Given the description of an element on the screen output the (x, y) to click on. 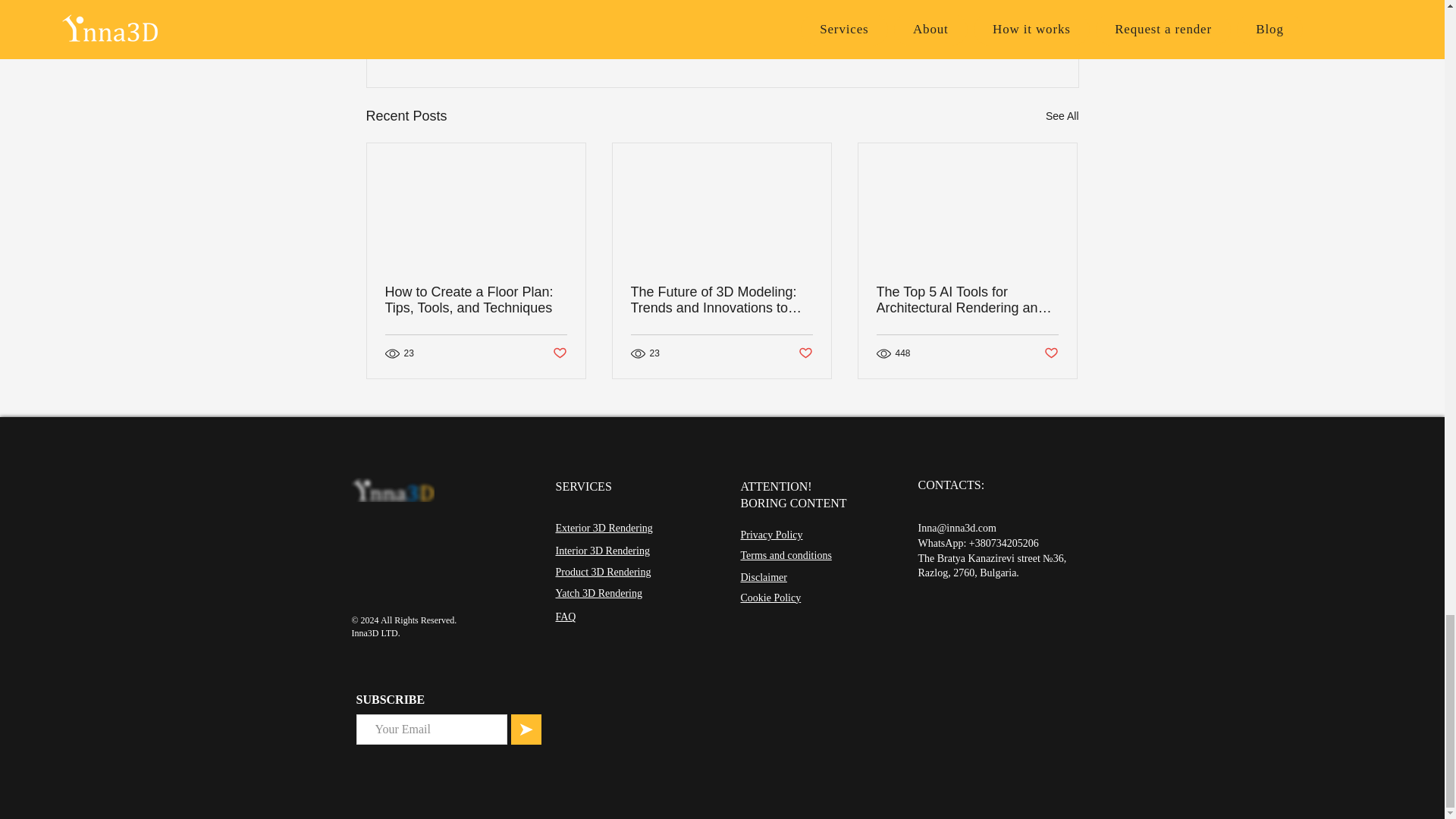
How to Create a Floor Plan: Tips, Tools, and Techniques (476, 300)
Post not marked as liked (995, 33)
See All (1061, 116)
Post not marked as liked (558, 353)
The Future of 3D Modeling: Trends and Innovations to Watch (721, 300)
Post not marked as liked (804, 353)
